Given the description of an element on the screen output the (x, y) to click on. 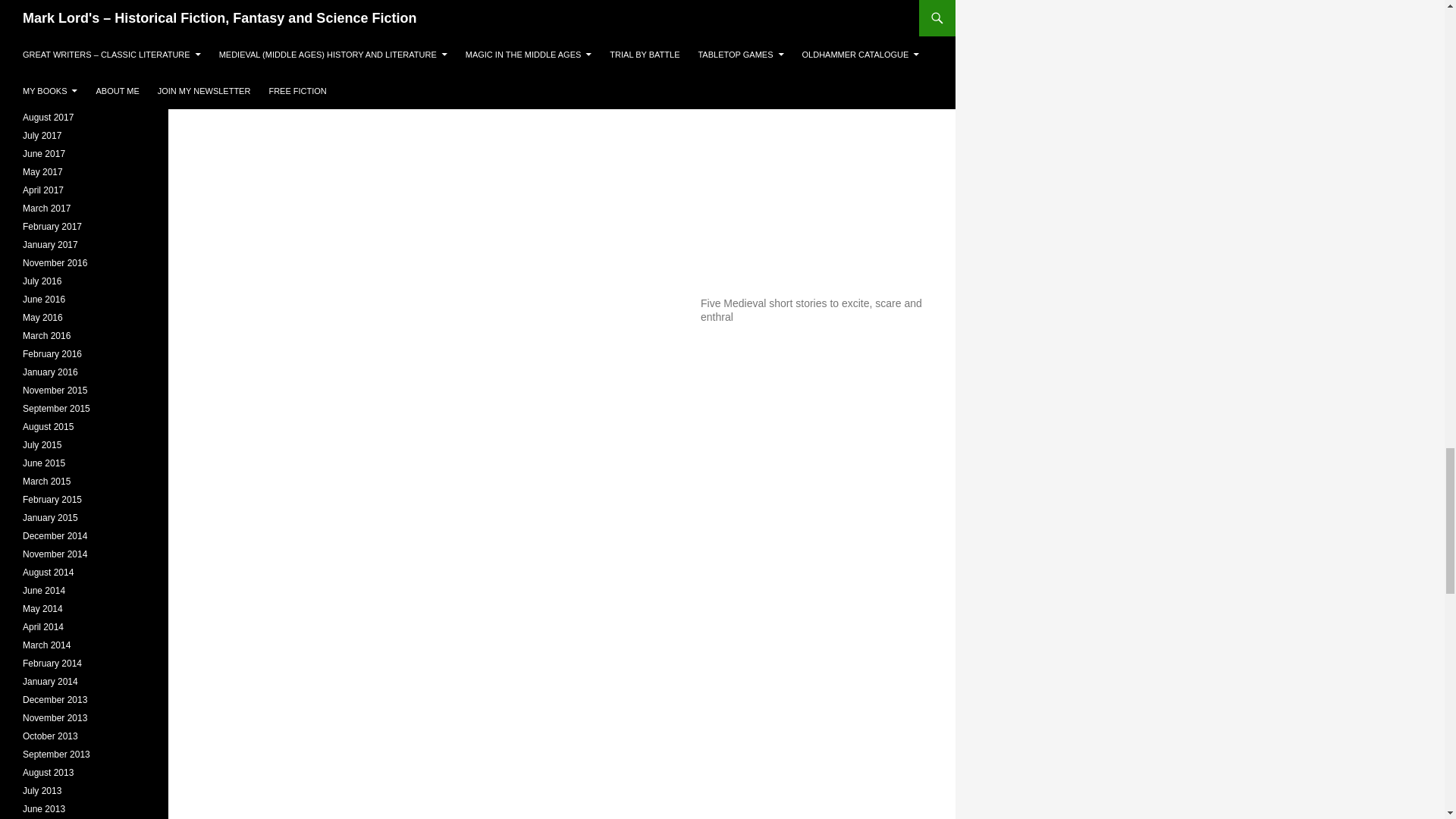
Through a Distant Mirror Darkly (816, 177)
